Given the description of an element on the screen output the (x, y) to click on. 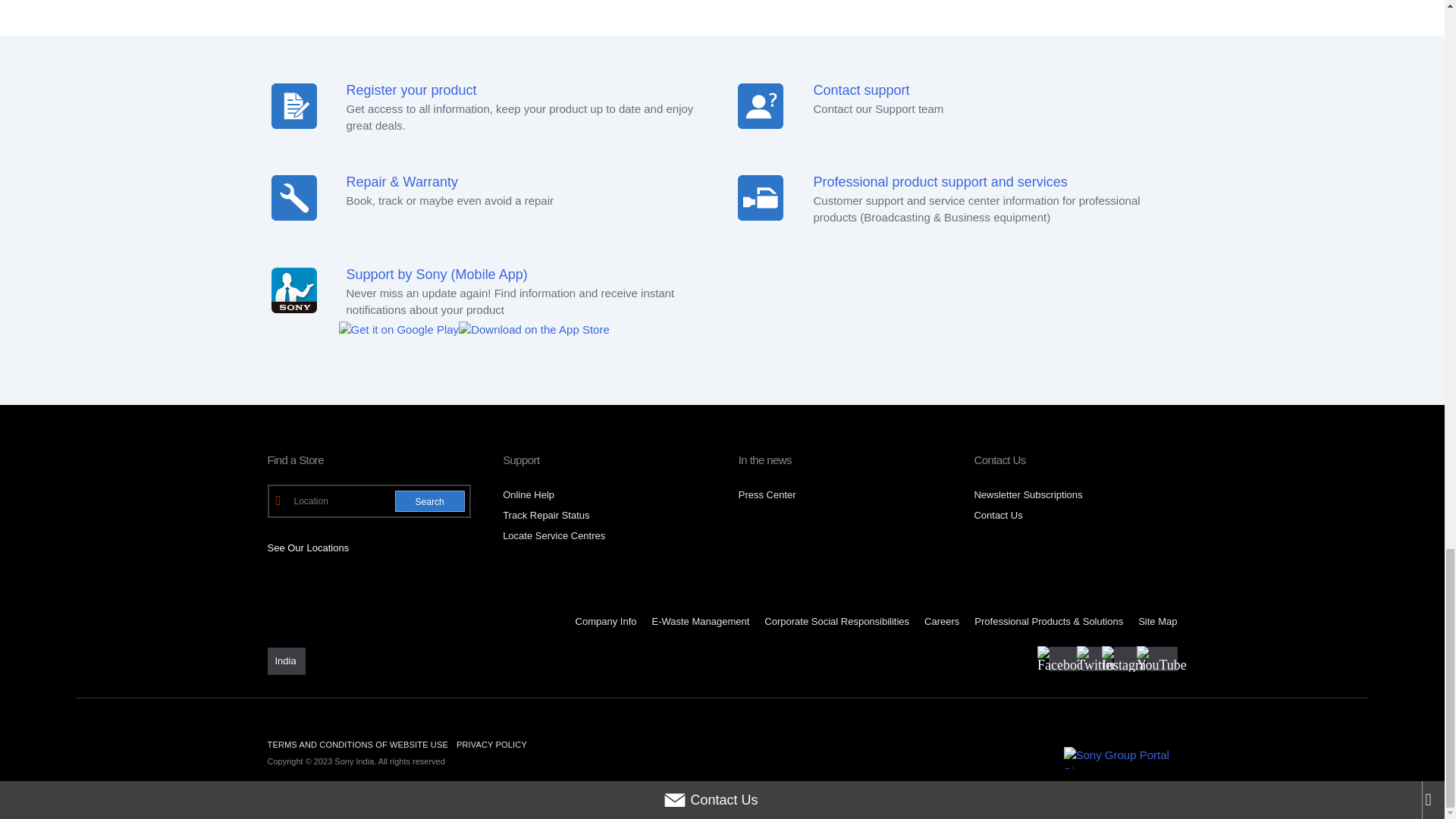
nntnnnttnn (760, 197)
